Given the description of an element on the screen output the (x, y) to click on. 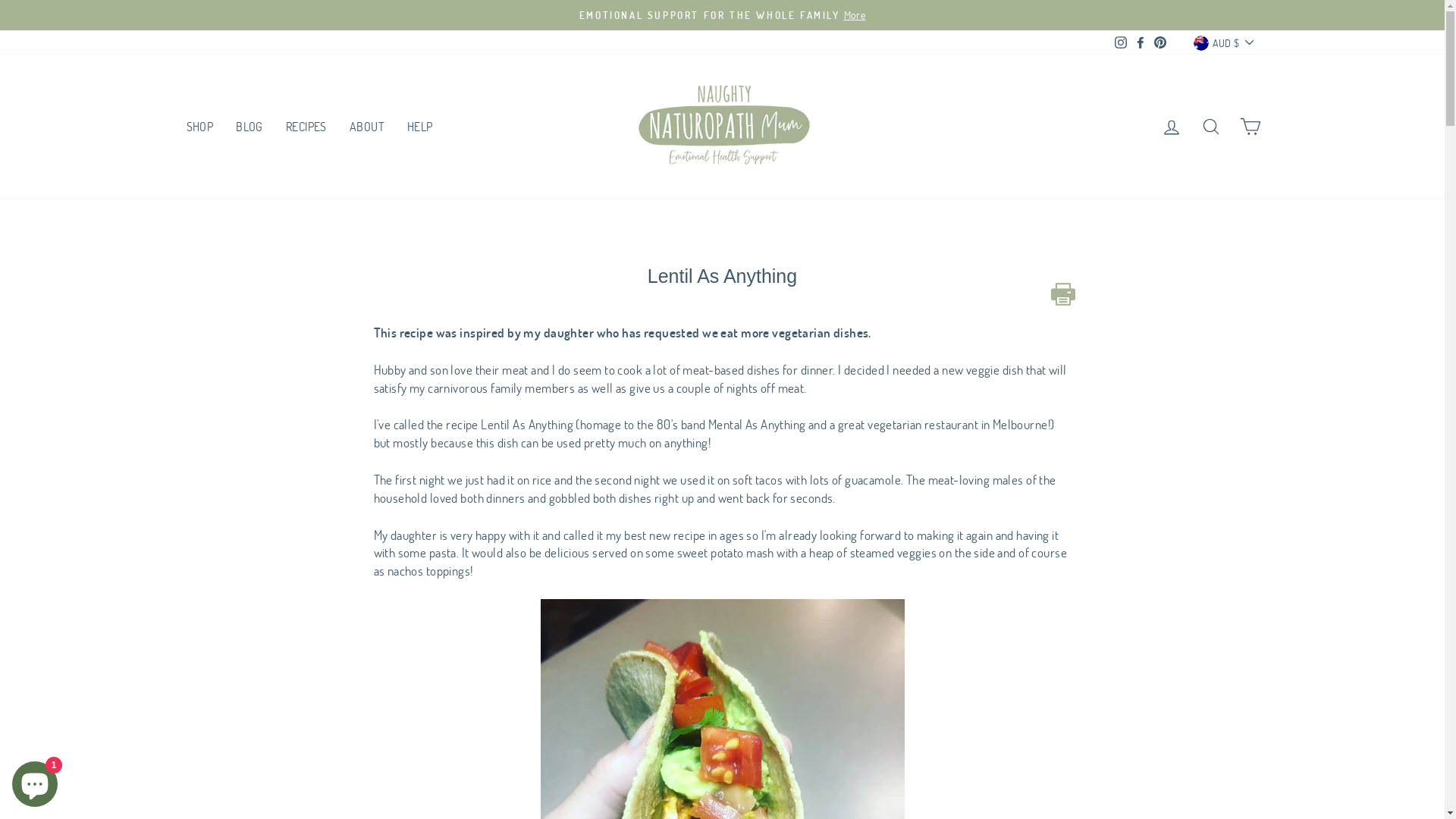
Instagram Element type: text (1120, 42)
Cart Element type: text (1249, 125)
Print this recipe Element type: hover (1063, 294)
EMOTIONAL SUPPORT FOR THE WHOLE FAMILYMore Element type: text (722, 14)
BLOG Element type: text (249, 126)
AUD $ Element type: text (1223, 42)
Facebook Element type: text (1140, 42)
Skip to content Element type: text (0, 0)
RECIPES Element type: text (306, 126)
Pinterest Element type: text (1160, 42)
Log in Element type: text (1170, 125)
HELP Element type: text (419, 126)
ABOUT Element type: text (366, 126)
SHOP Element type: text (199, 126)
Shopify online store chat Element type: hover (34, 780)
Search Element type: text (1210, 125)
